Given the description of an element on the screen output the (x, y) to click on. 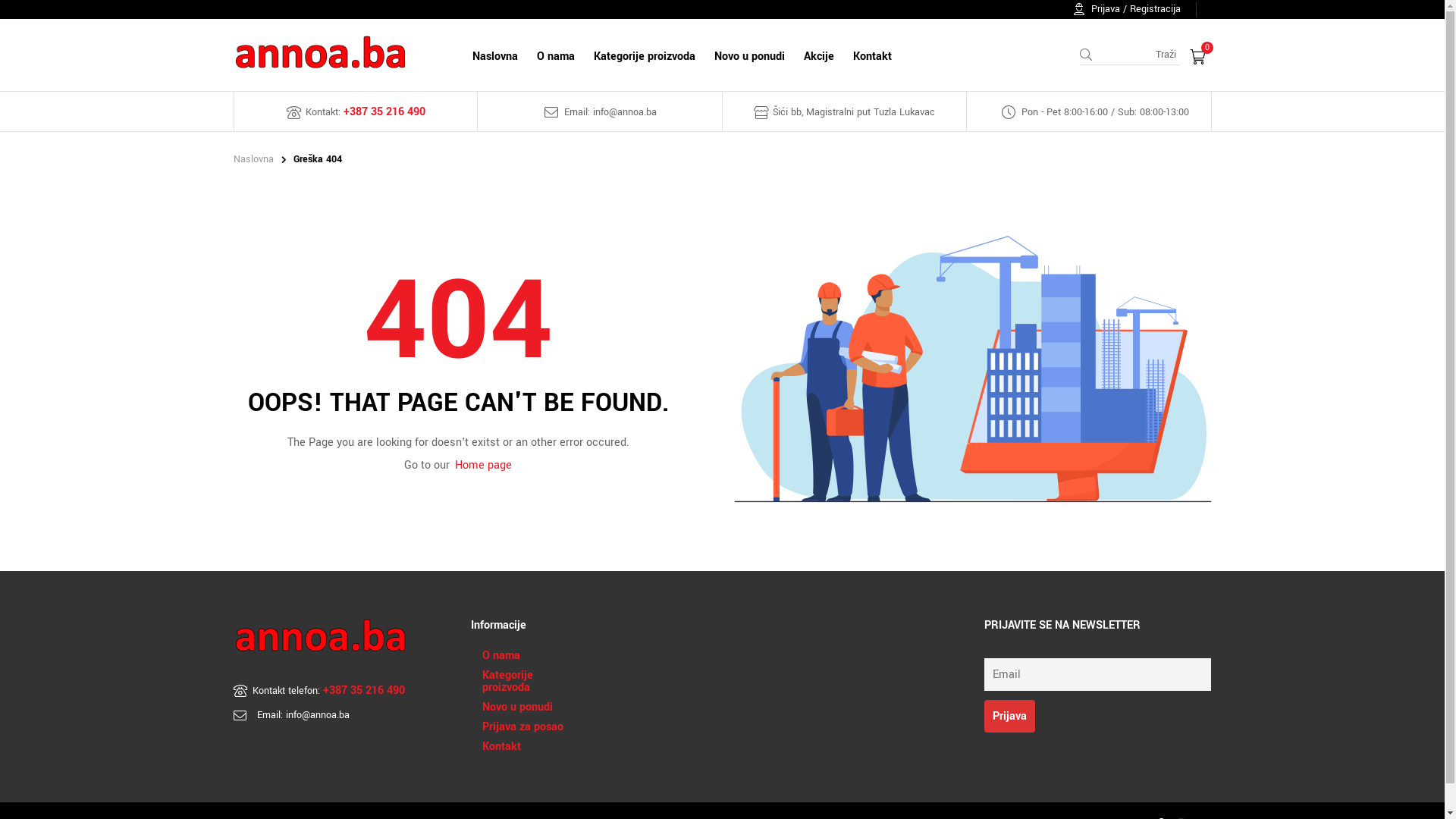
Kontakt Element type: text (501, 746)
Novo u ponudi Element type: text (517, 707)
Kategorije proizvoda Element type: text (530, 681)
Akcije Element type: text (818, 54)
Prijava Element type: text (1009, 715)
Prijava / Registracija Element type: text (1126, 9)
Email: info@annoa.ba Element type: text (599, 112)
Naslovna Element type: text (494, 54)
Kontakt Element type: text (871, 54)
Novo u ponudi Element type: text (749, 54)
Kontakt: +387 35 216 490 Element type: text (355, 111)
O nama Element type: text (555, 54)
O nama Element type: text (500, 655)
Kategorije proizvoda Element type: text (643, 54)
Naslovna Element type: text (253, 159)
Prijava za posao Element type: text (522, 727)
0 Element type: text (1197, 56)
Home page Element type: text (483, 465)
